Given the description of an element on the screen output the (x, y) to click on. 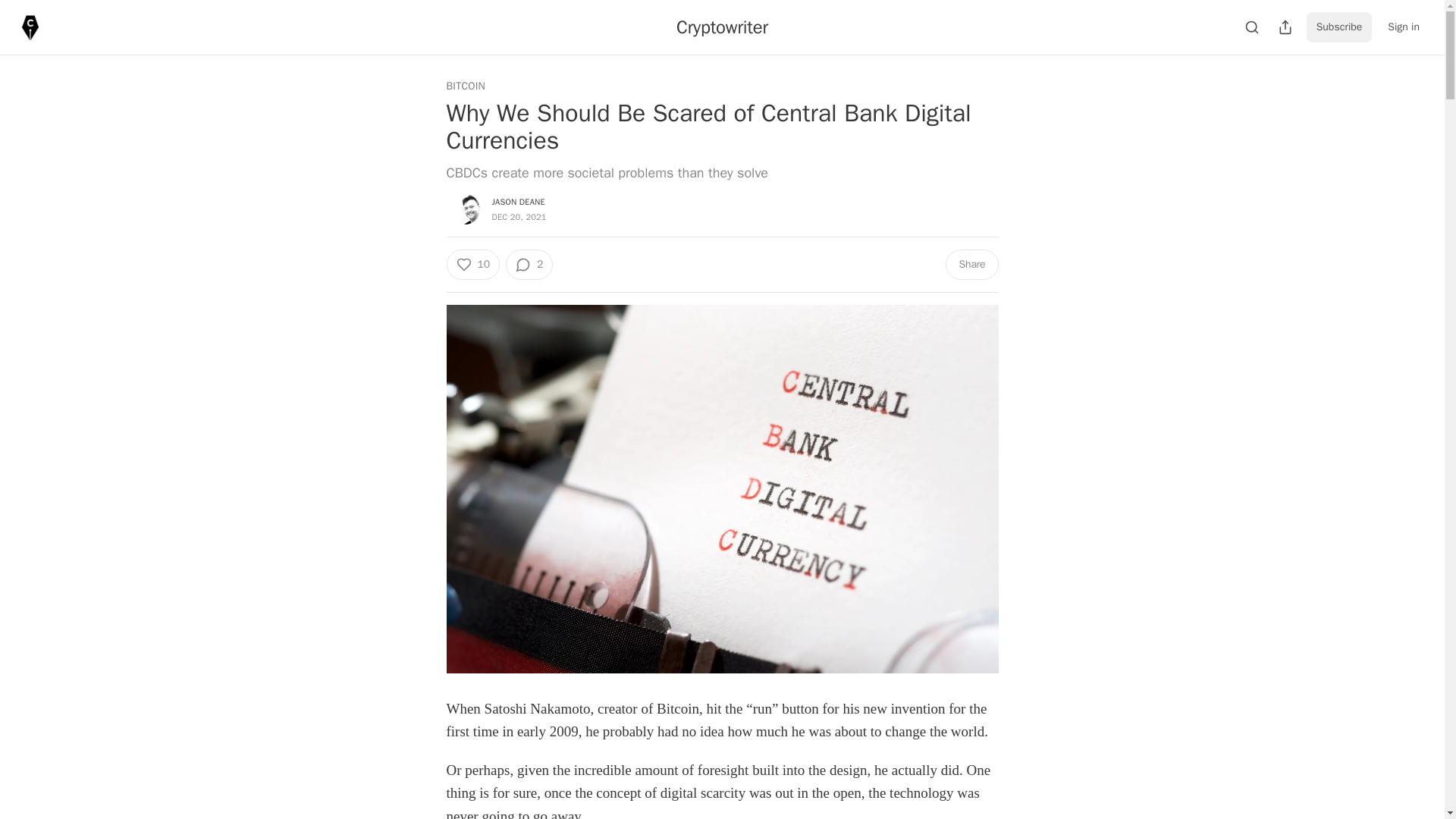
Subscribe (1339, 27)
Sign in (1403, 27)
Cryptowriter (722, 26)
JASON DEANE (518, 201)
BITCOIN (464, 86)
Share (970, 264)
2 (529, 264)
10 (472, 264)
